Given the description of an element on the screen output the (x, y) to click on. 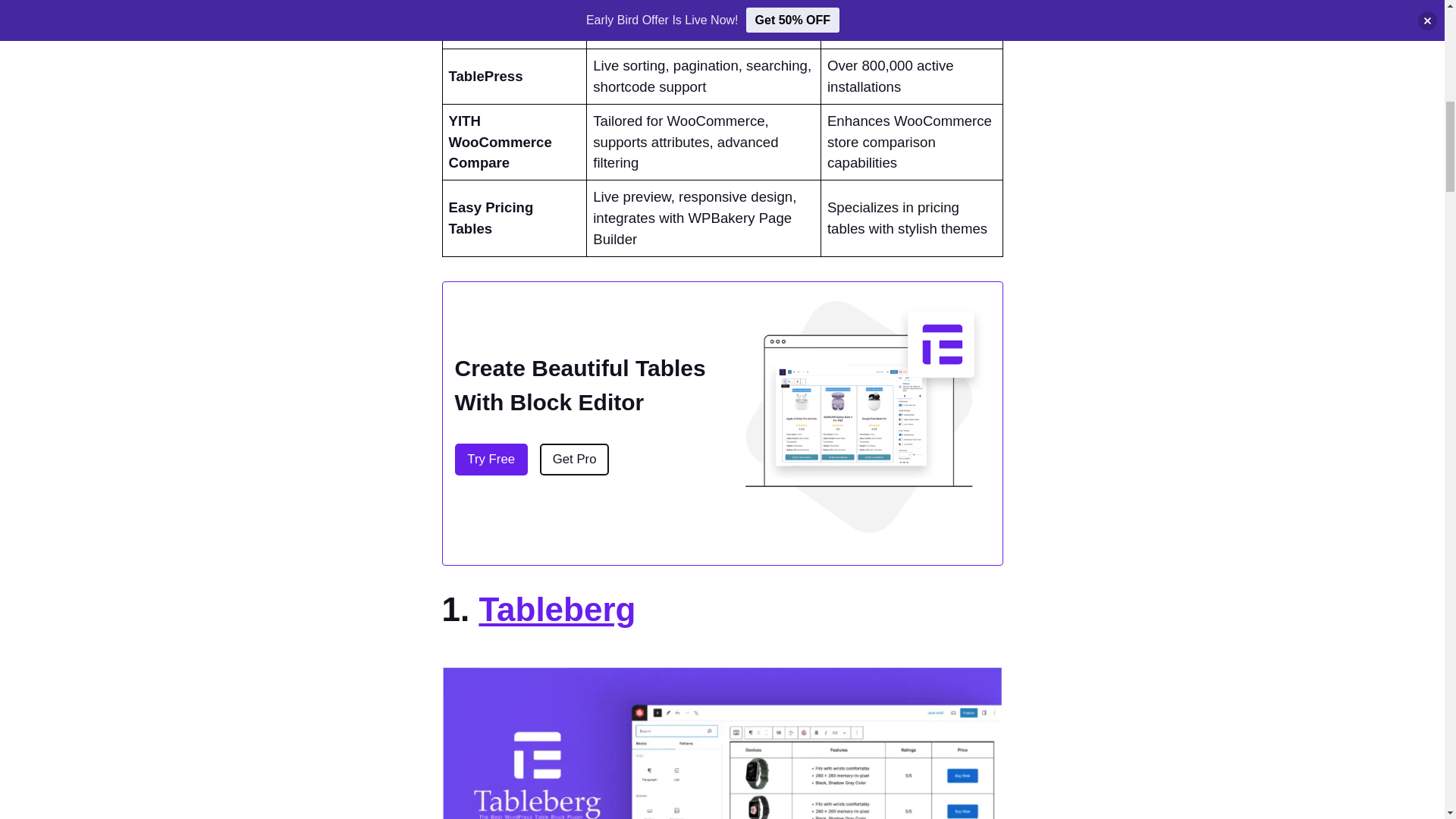
Tableberg (556, 609)
Try Free (490, 459)
Get Pro (574, 459)
